Given the description of an element on the screen output the (x, y) to click on. 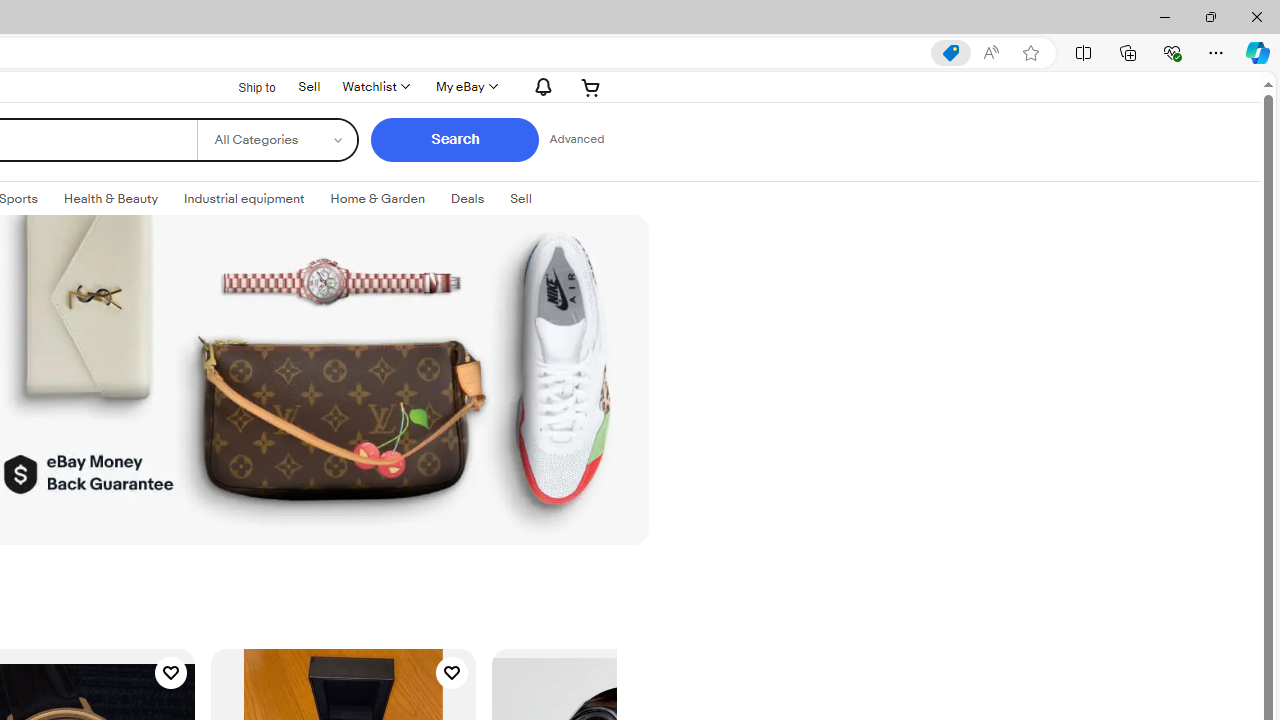
Deals (467, 198)
Watchlist (374, 86)
Class: vl-flyout-nav__js-tab vl-flyout-nav__no-sub (466, 199)
AutomationID: gh-wl-click (374, 86)
Home & Garden (377, 198)
AutomationID: gh-minicart-hover (591, 86)
Health & Beauty (111, 198)
This site has coupons! Shopping in Microsoft Edge, 20 (950, 53)
AutomationID: gh-eb-Alerts (540, 86)
AutomationID: gh-eb-My (464, 86)
Class: vl-flyout-nav__js-tab (520, 199)
